Given the description of an element on the screen output the (x, y) to click on. 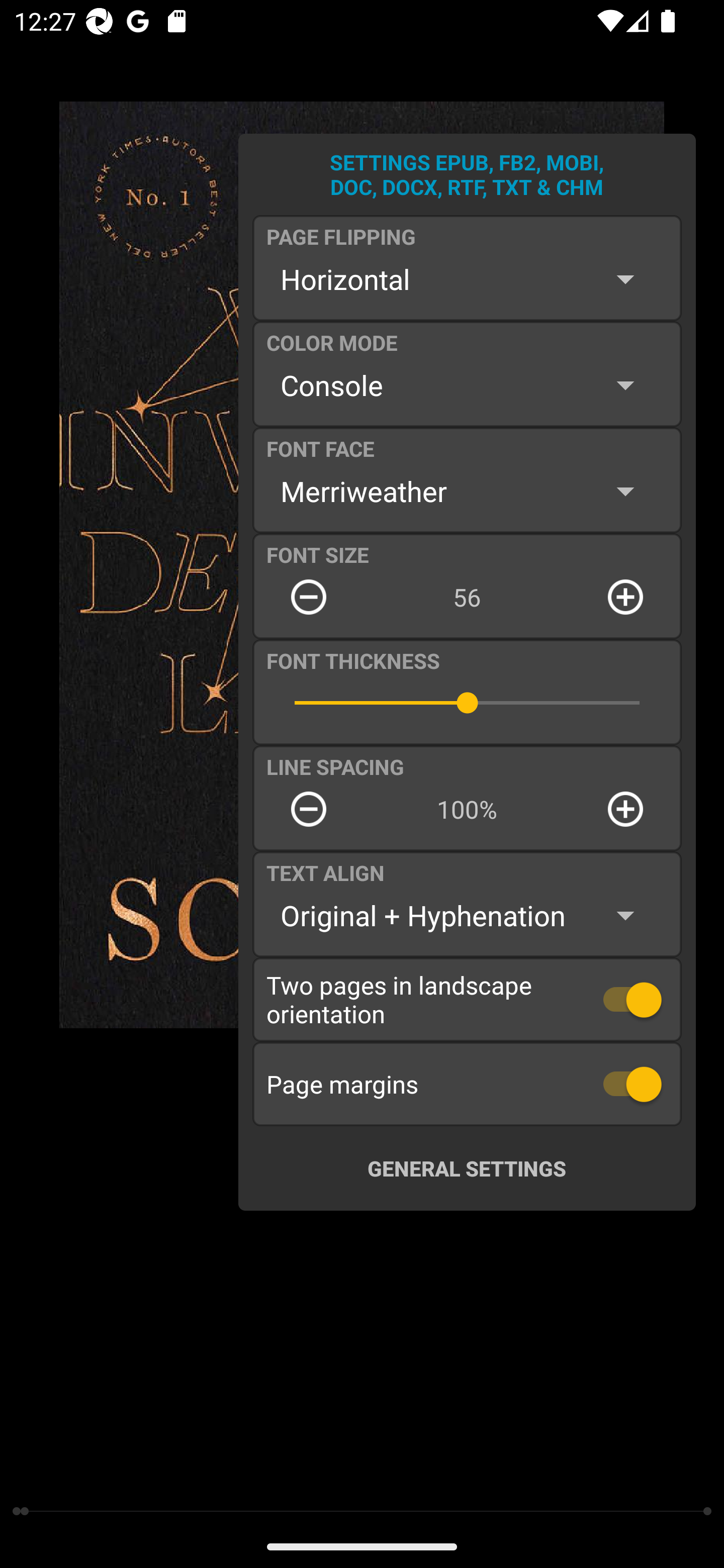
Horizontal (466, 278)
Console (466, 384)
Merriweather (466, 490)
Original + Hyphenation (466, 915)
Two pages in landscape orientation (467, 999)
Page margins (467, 1083)
GENERAL SETTINGS (466, 1167)
